Given the description of an element on the screen output the (x, y) to click on. 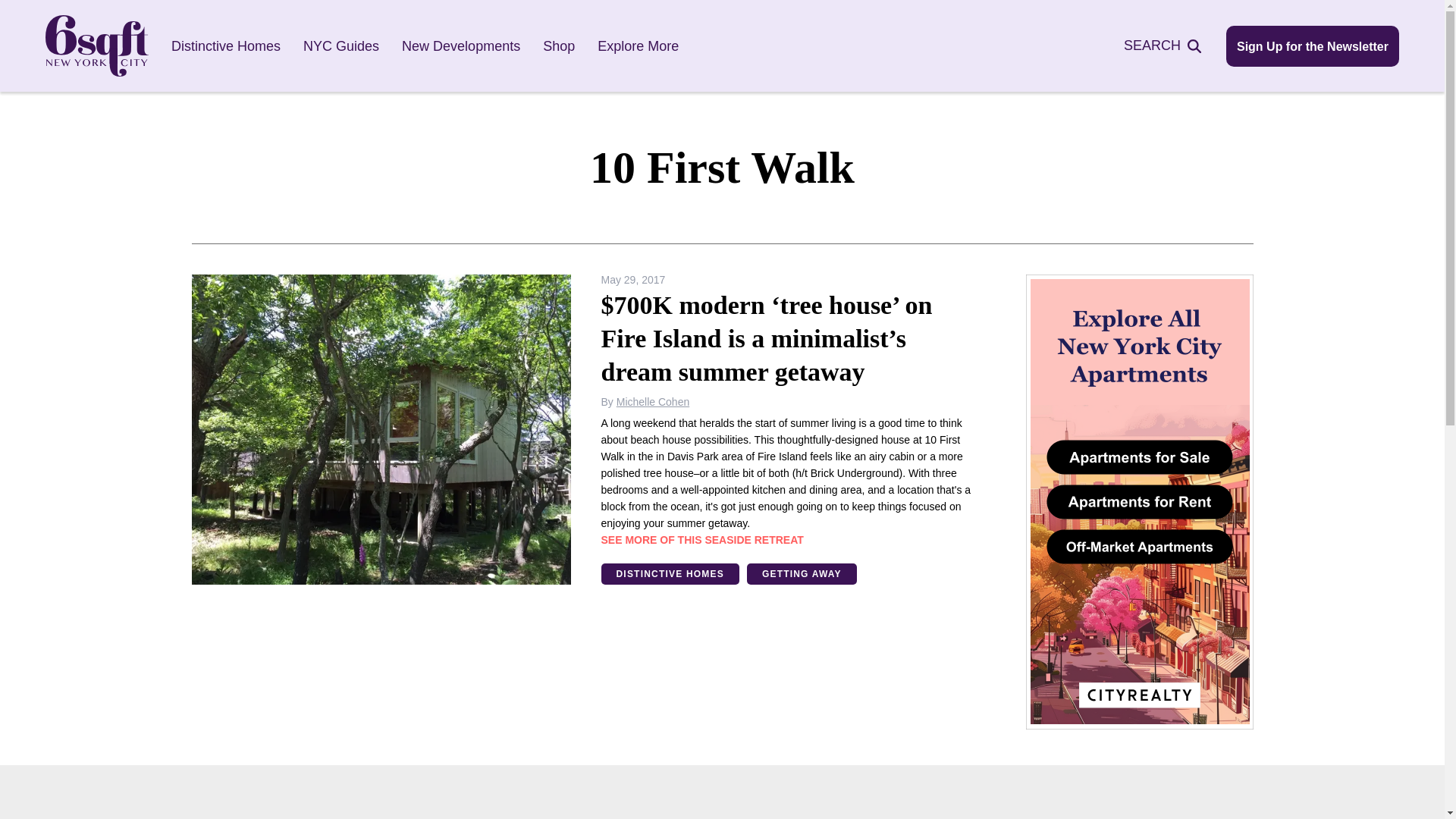
Distinctive Homes (226, 46)
SEE MORE OF THIS SEASIDE RETREAT (701, 539)
GETTING AWAY (801, 573)
SEARCH (1171, 45)
New Developments (460, 46)
Posts by Michelle Cohen (652, 401)
Michelle Cohen (652, 401)
Shop (559, 46)
NYC Guides (340, 46)
DISTINCTIVE HOMES (668, 573)
Explore More (637, 46)
Sign Up for the Newsletter (1312, 45)
